Given the description of an element on the screen output the (x, y) to click on. 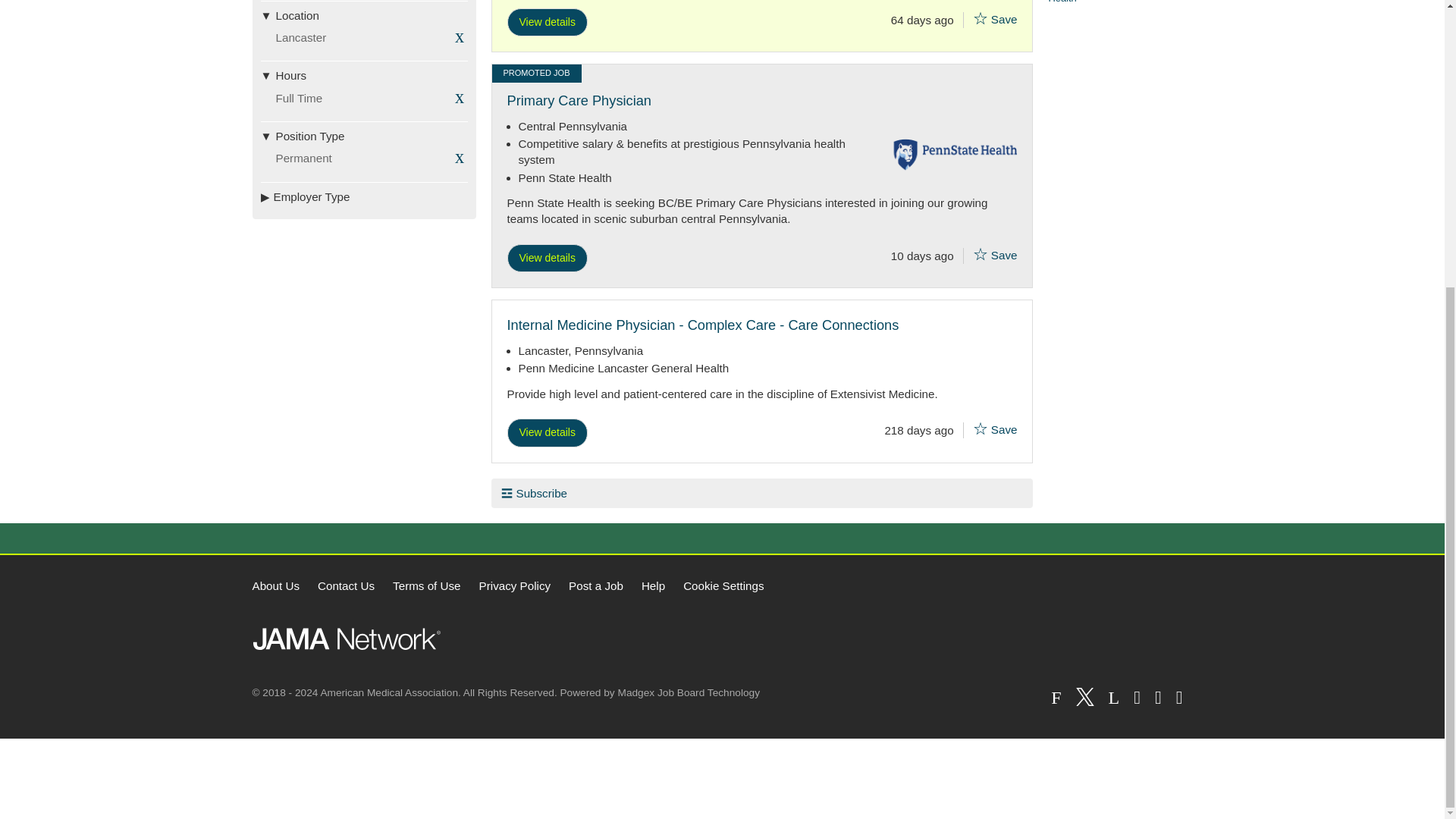
JAMA Network (346, 639)
3rd party ad content (721, 778)
Add to shortlist (980, 253)
Add to shortlist (980, 17)
Add to shortlist (980, 428)
